Given the description of an element on the screen output the (x, y) to click on. 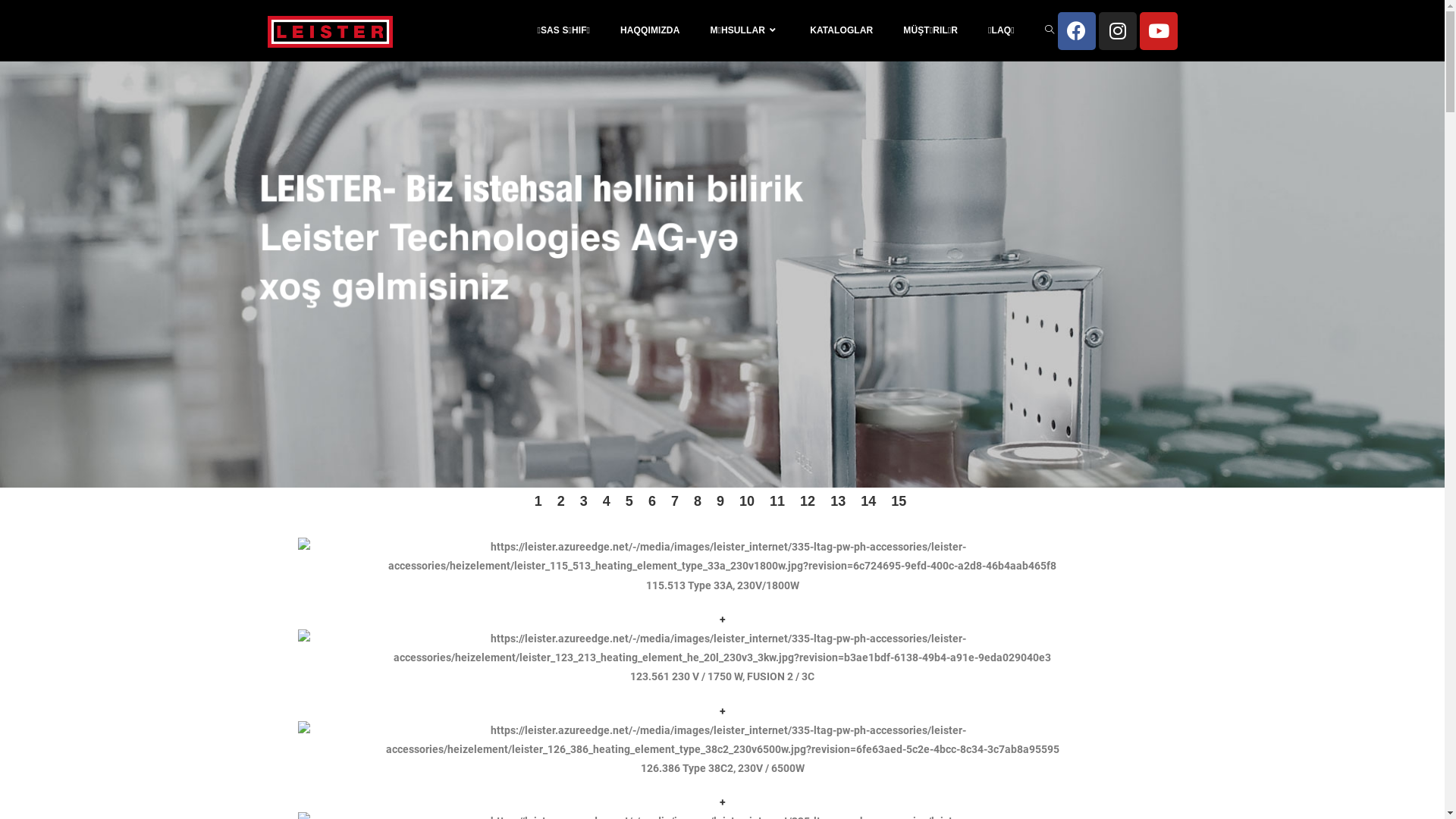
11 Element type: text (776, 500)
4 Element type: text (606, 500)
HAQQIMIZDA Element type: text (649, 30)
5 Element type: text (629, 500)
+ Element type: text (721, 619)
8 Element type: text (697, 500)
9 Element type: text (720, 500)
KATALOGLAR Element type: text (841, 30)
6 Element type: text (651, 500)
1 Element type: text (538, 500)
7 Element type: text (674, 500)
13 Element type: text (837, 500)
12 Element type: text (807, 500)
3 Element type: text (583, 500)
+ Element type: text (721, 802)
10 Element type: text (746, 500)
15 Element type: text (898, 500)
+ Element type: text (721, 711)
14 Element type: text (867, 500)
2 Element type: text (560, 500)
